Given the description of an element on the screen output the (x, y) to click on. 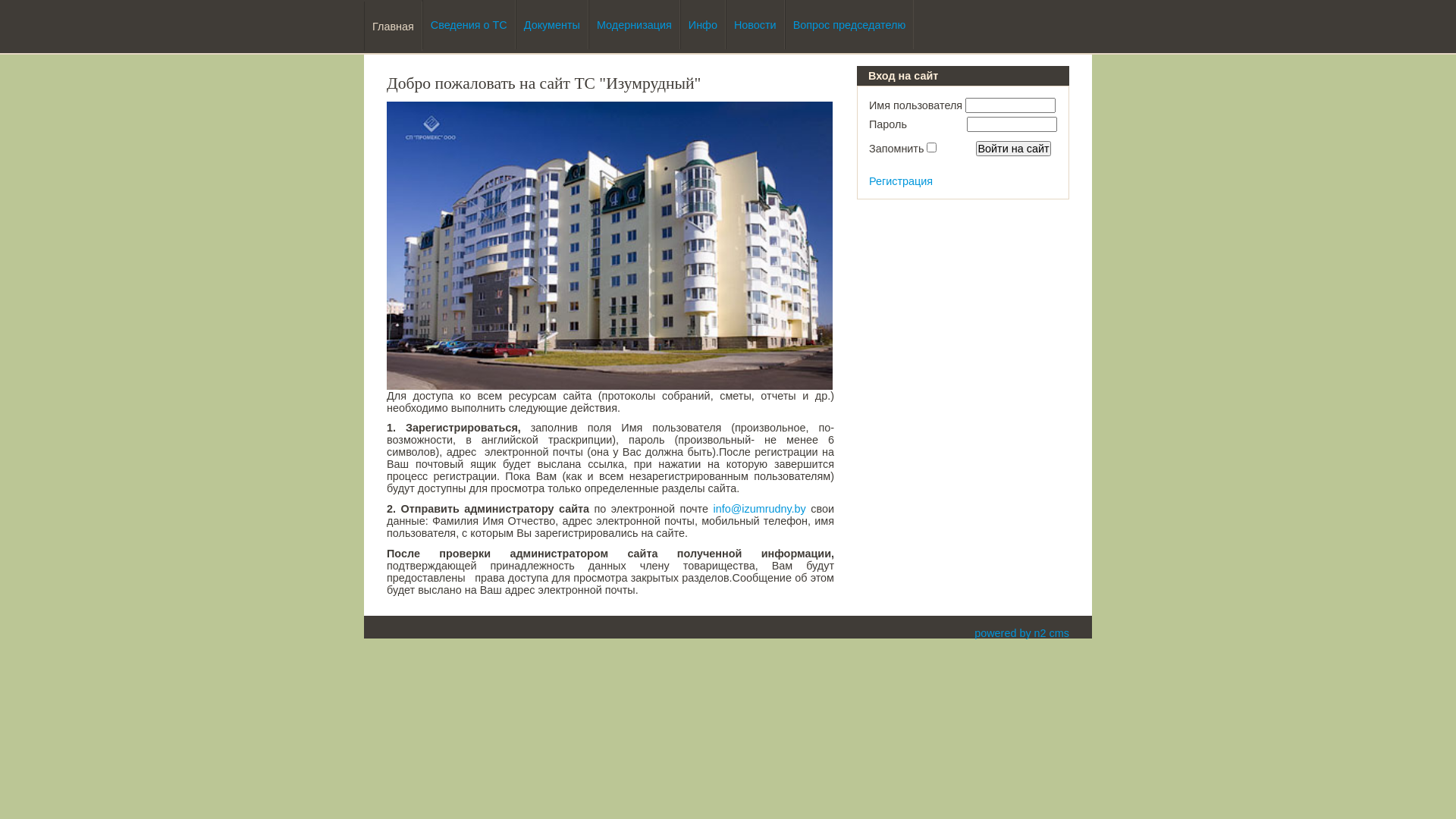
powered by n2 cms Element type: text (1021, 633)
info@izumrudny.by Element type: text (758, 508)
